Given the description of an element on the screen output the (x, y) to click on. 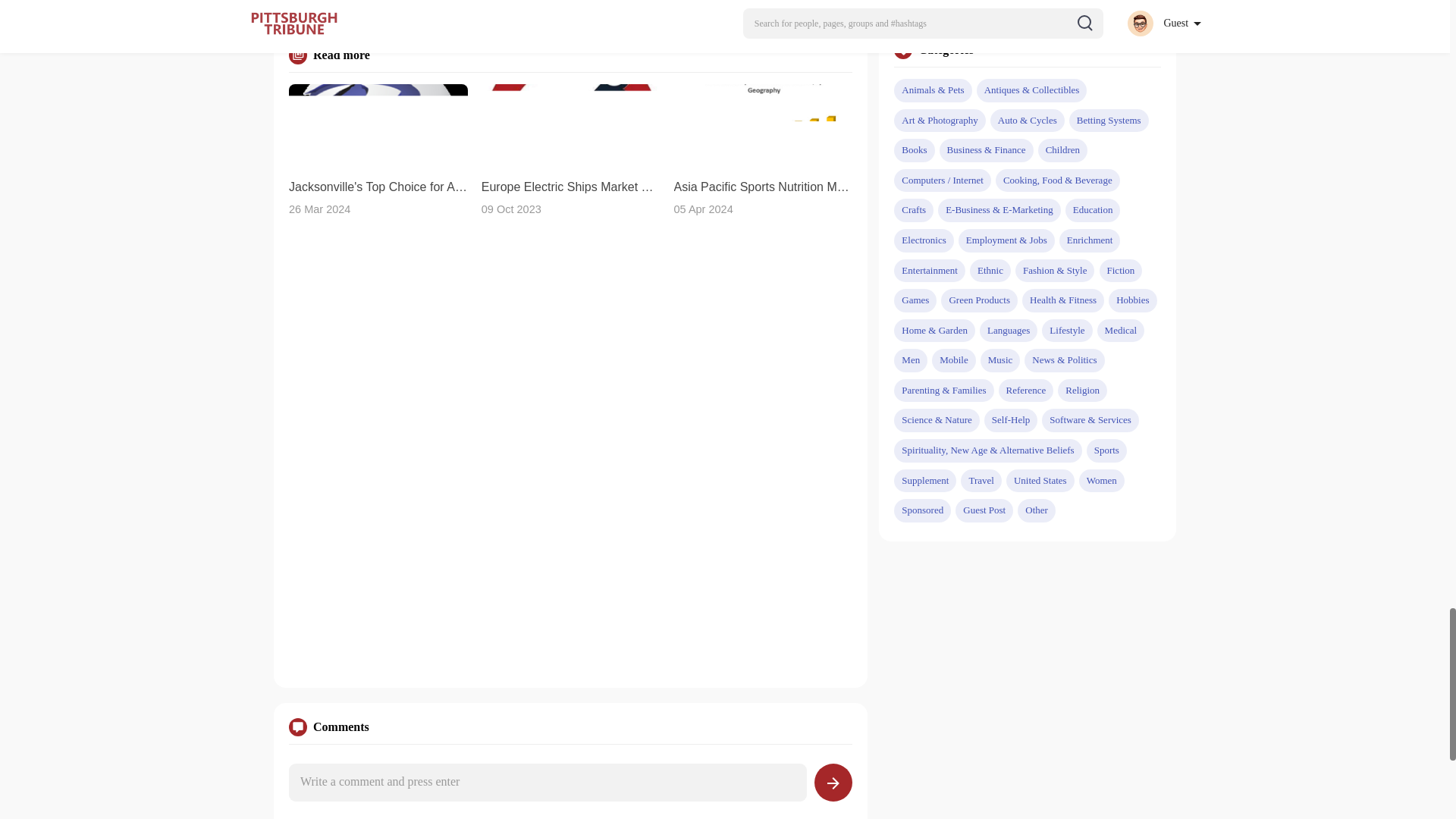
Post (832, 782)
